Given the description of an element on the screen output the (x, y) to click on. 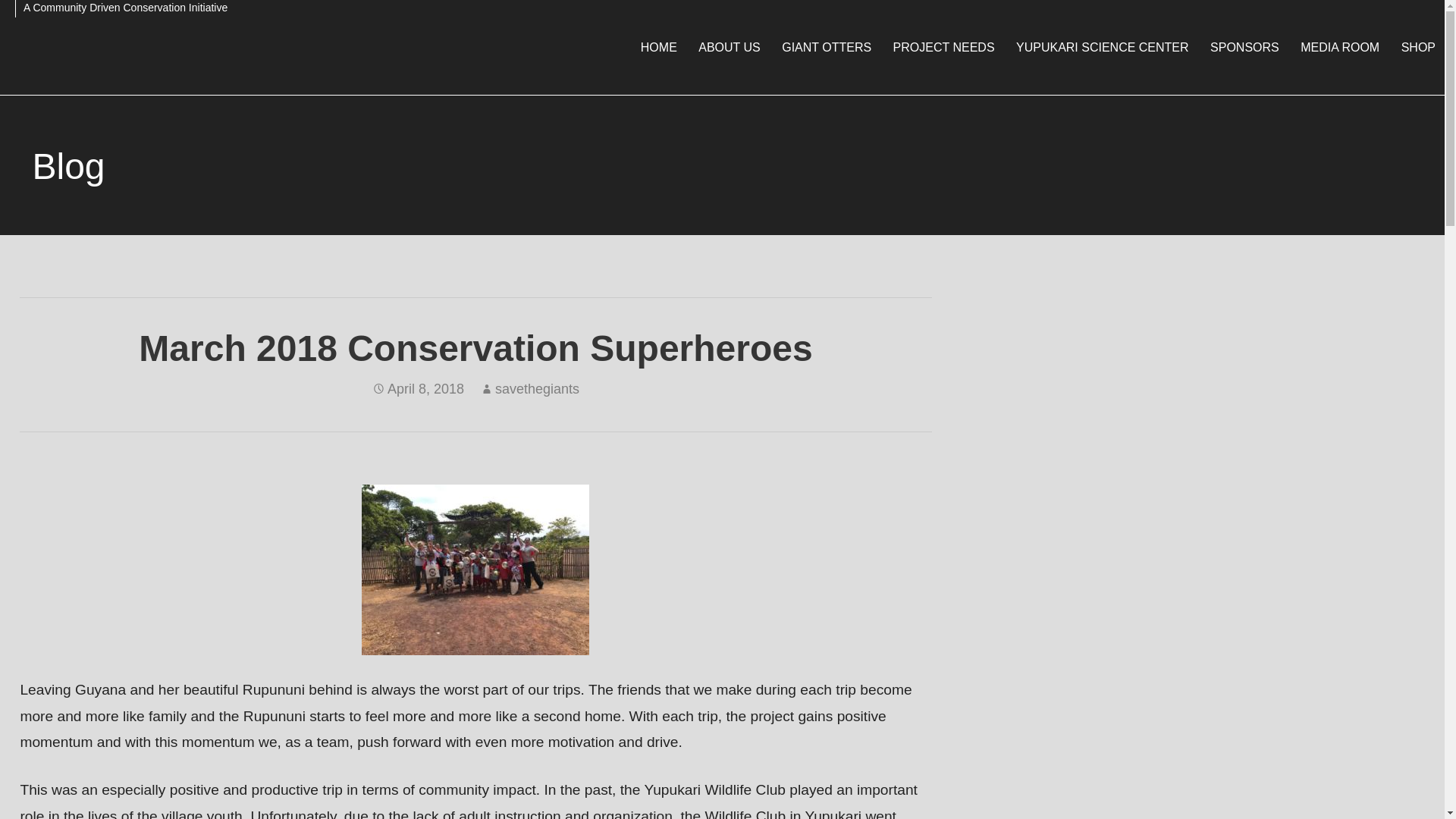
YUPUKARI SCIENCE CENTER (1102, 47)
GIANT OTTERS (826, 47)
PROJECT NEEDS (943, 47)
SPONSORS (1244, 47)
Posts by savethegiants (537, 388)
savethegiants (537, 388)
SAVE THE GIANTS (116, 49)
MEDIA ROOM (1340, 47)
